Given the description of an element on the screen output the (x, y) to click on. 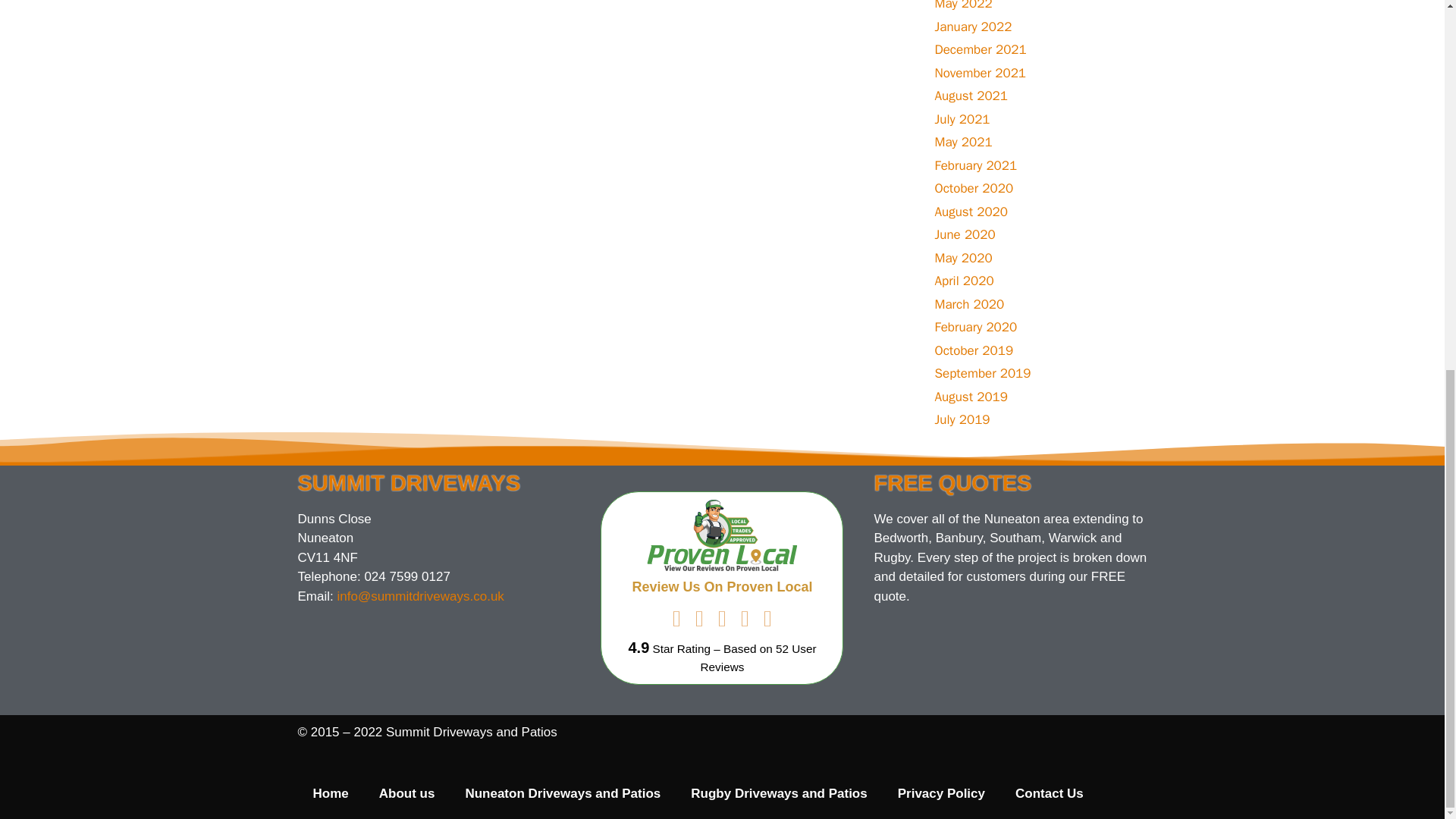
View Reviews Of Summit Driveways (758, 657)
